Given the description of an element on the screen output the (x, y) to click on. 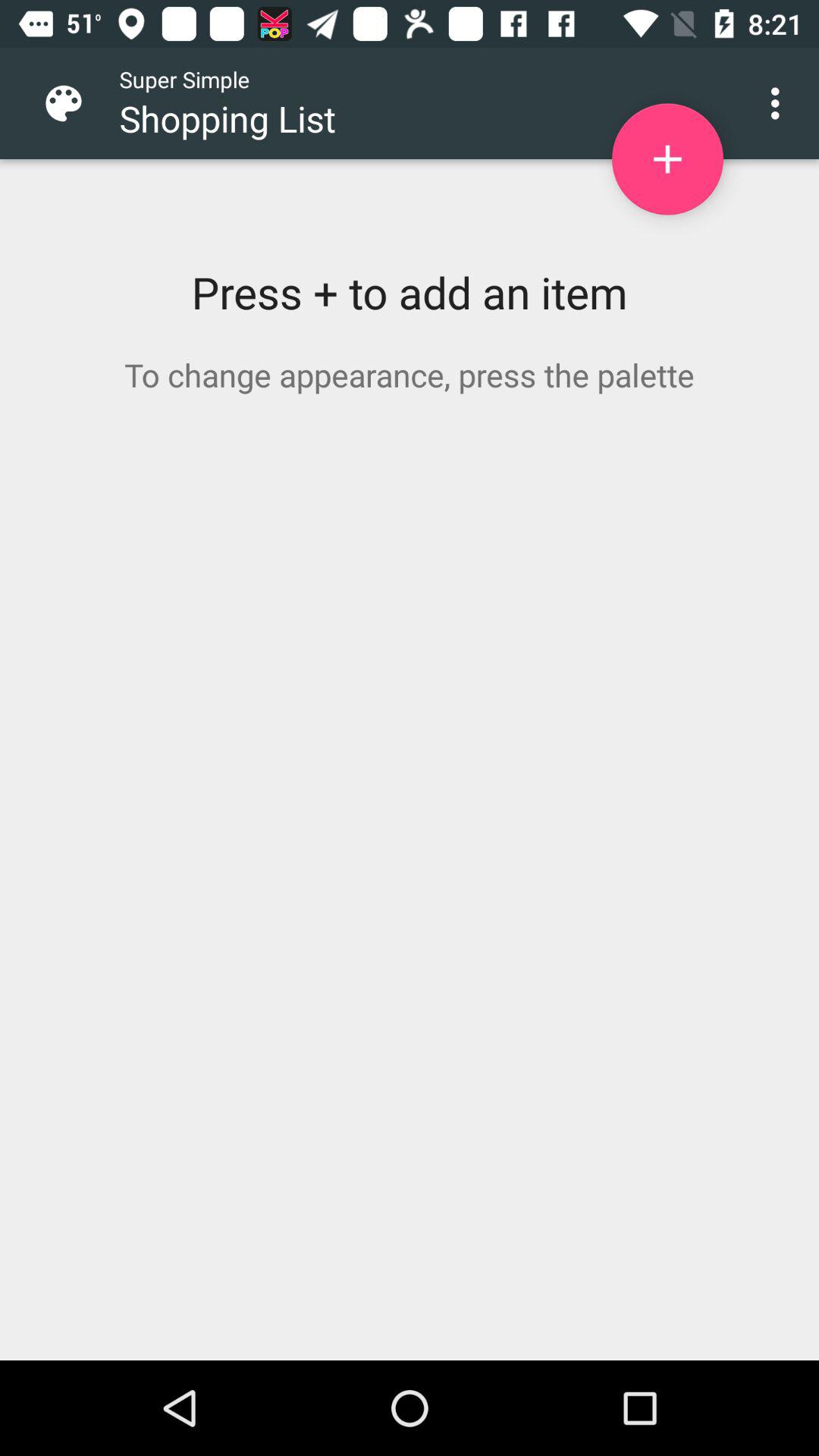
add item to shopping list (667, 158)
